Given the description of an element on the screen output the (x, y) to click on. 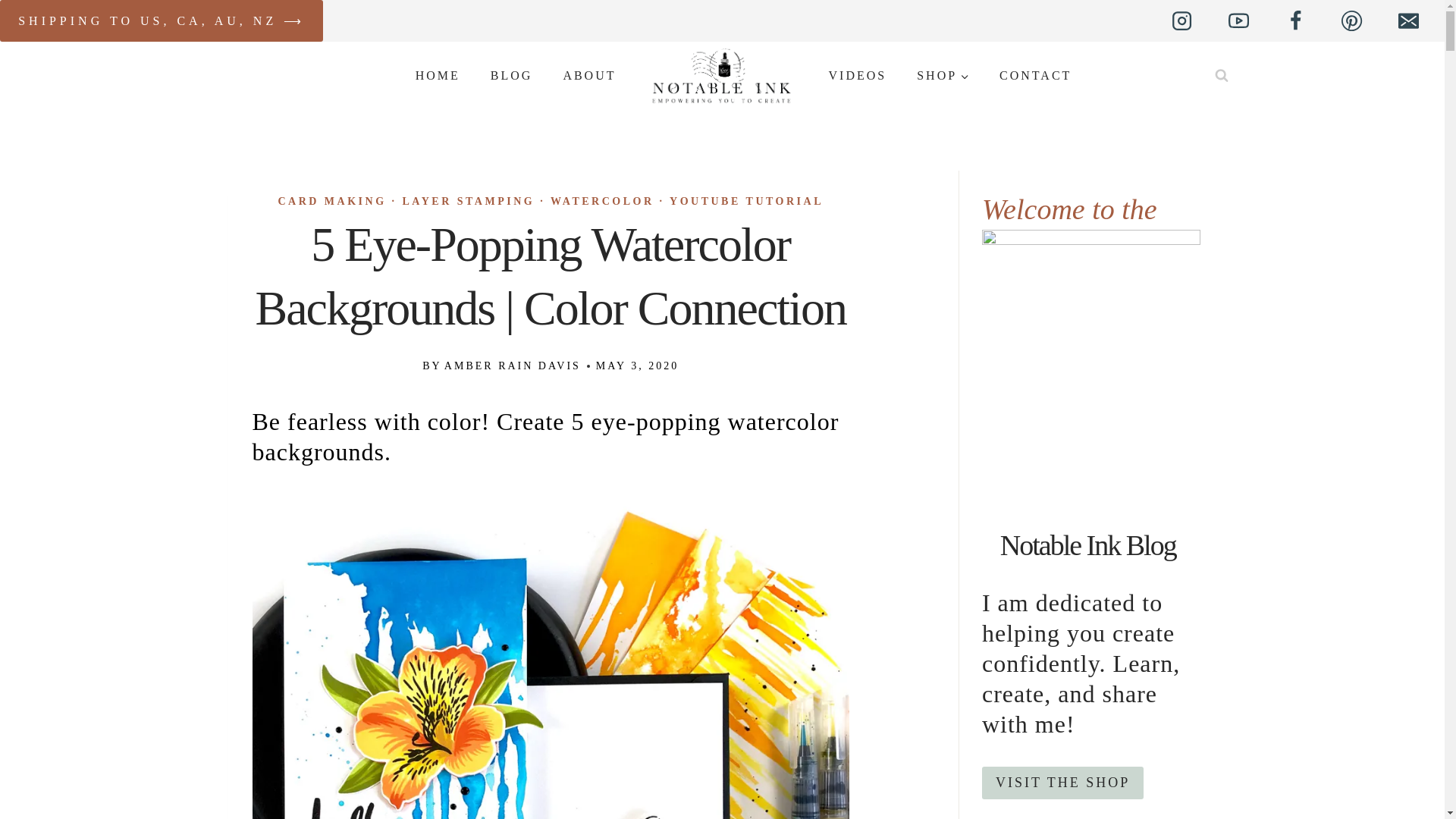
SHOP (942, 75)
VIDEOS (856, 75)
YOUTUBE TUTORIAL (746, 201)
BLOG (512, 75)
CARD MAKING (331, 201)
WATERCOLOR (601, 201)
CONTACT (1035, 75)
ABOUT (588, 75)
LAYER STAMPING (469, 201)
AMBER RAIN DAVIS (512, 365)
